Given the description of an element on the screen output the (x, y) to click on. 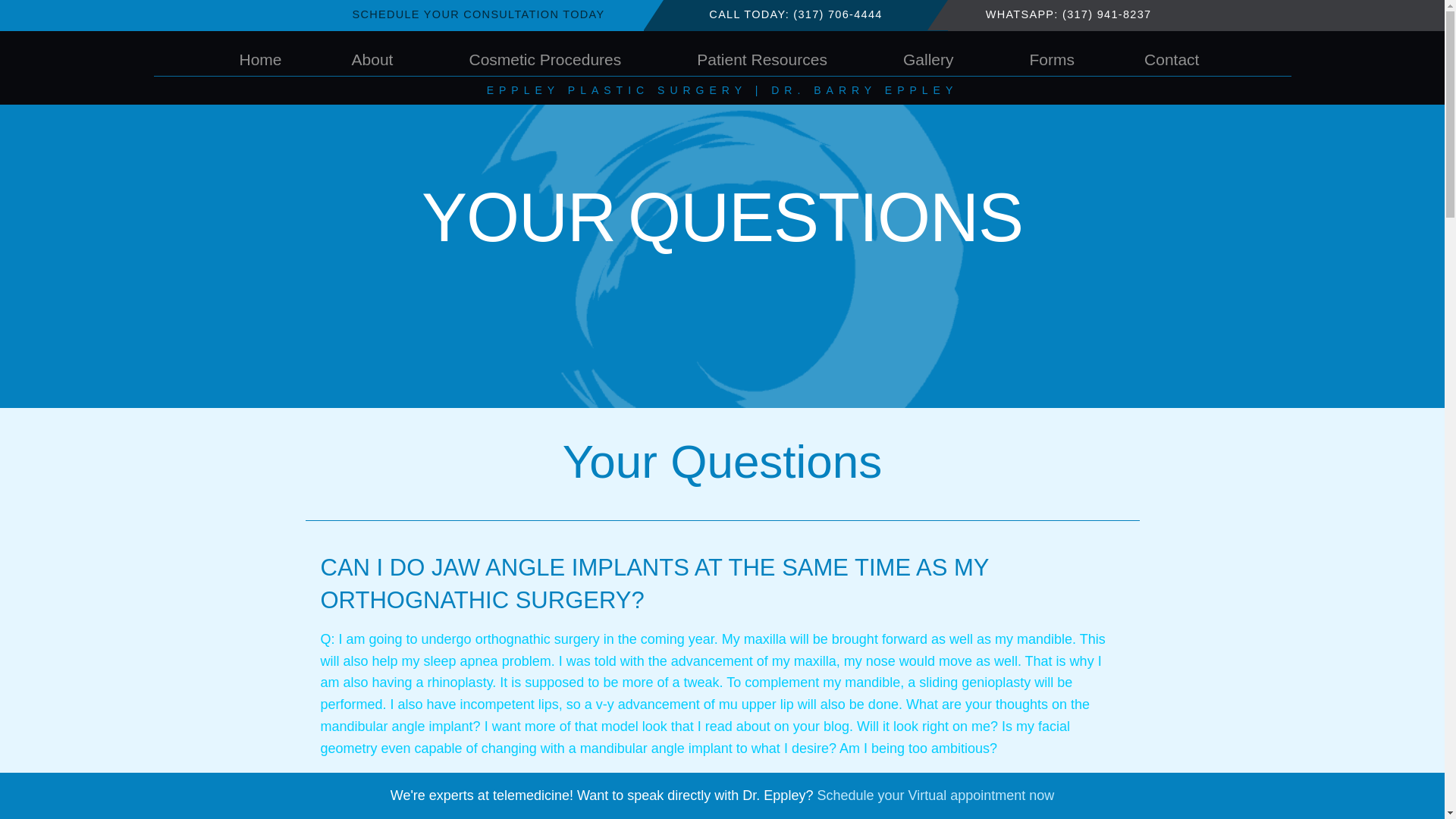
SCHEDULE YOUR CONSULTATION TODAY (478, 15)
Home (260, 59)
Cosmetic Procedures (548, 59)
About (375, 59)
